Given the description of an element on the screen output the (x, y) to click on. 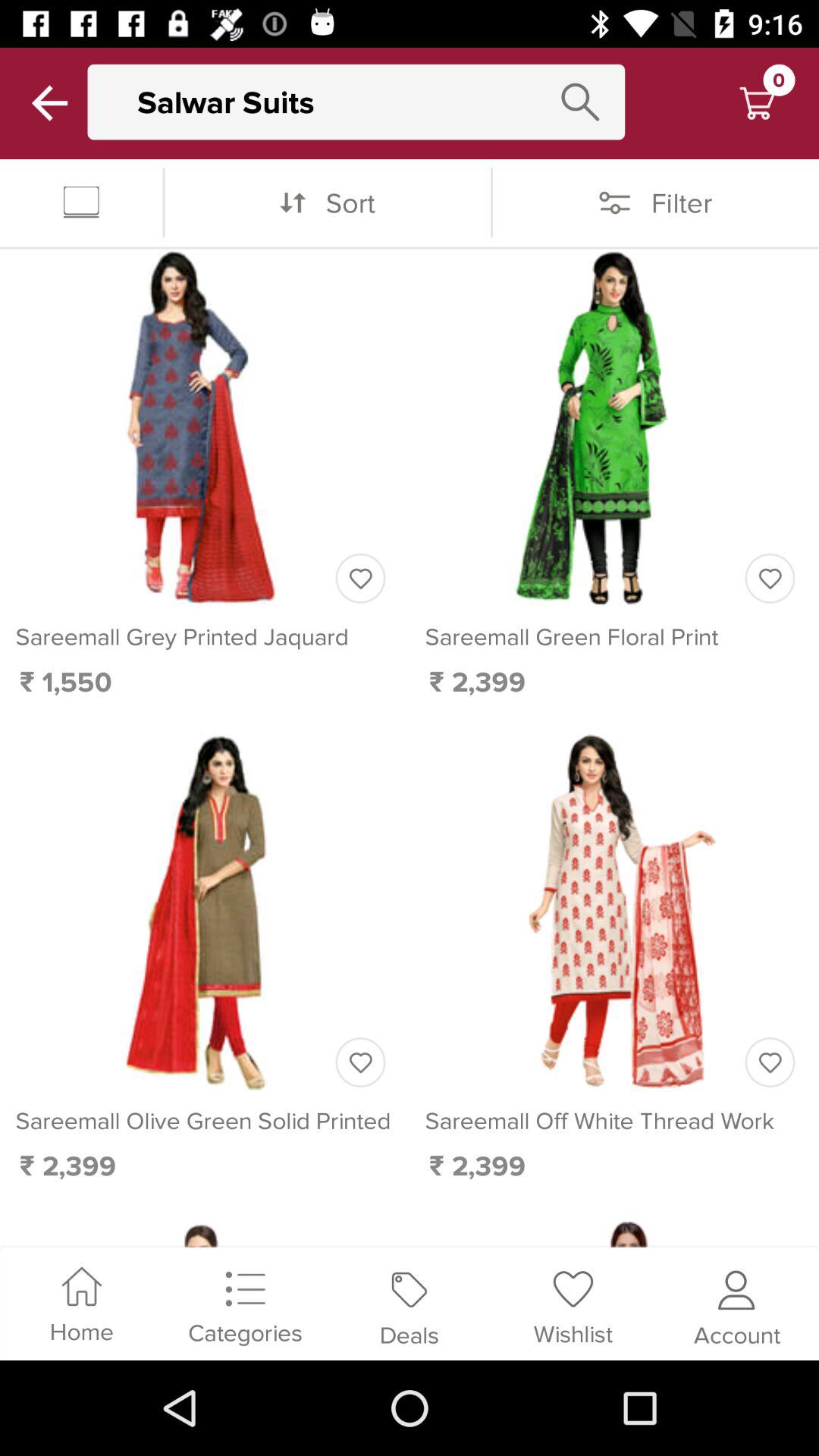
check items in your cart (757, 103)
